Given the description of an element on the screen output the (x, y) to click on. 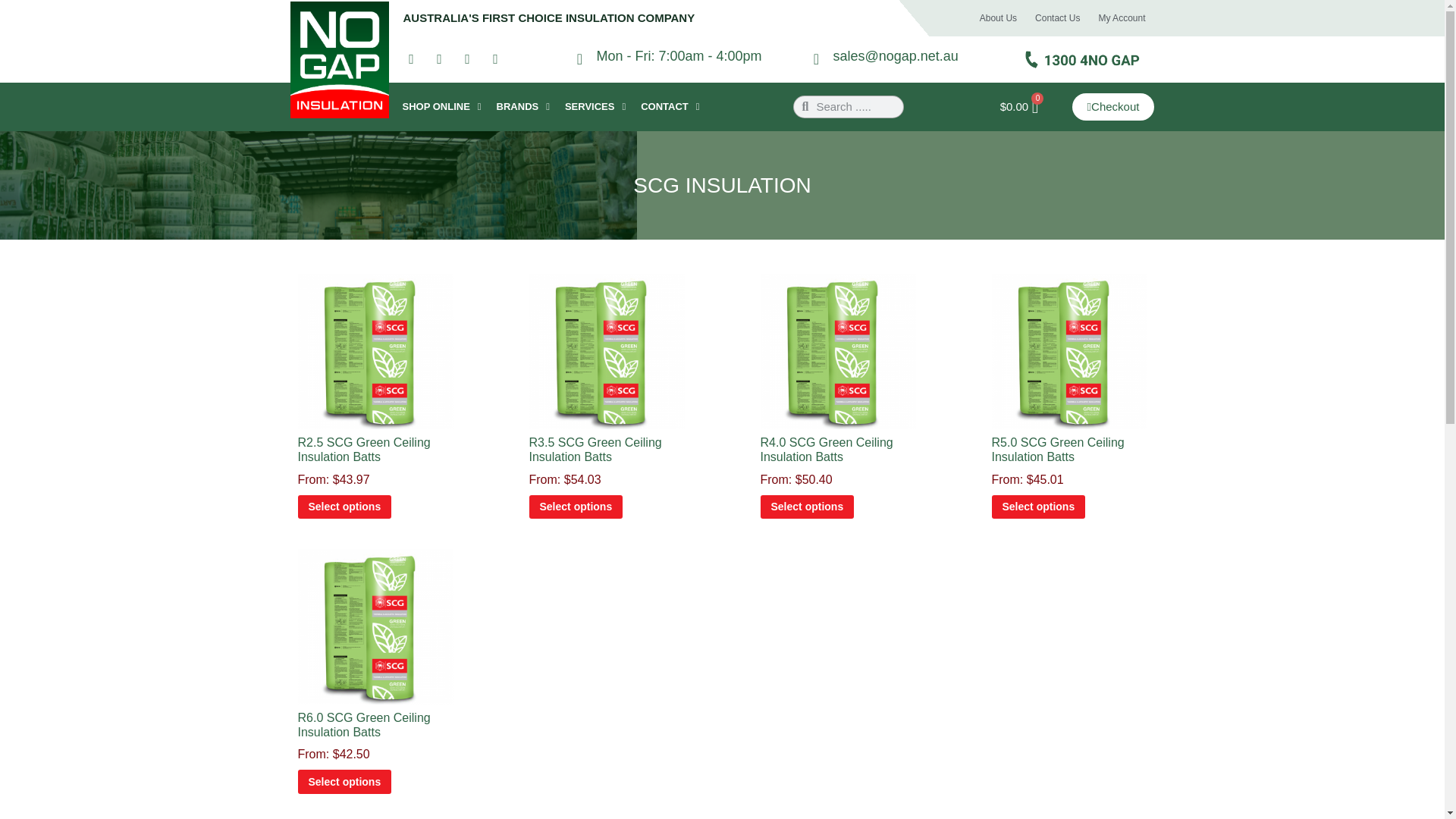
SHOP ONLINE (440, 106)
BRANDS (523, 106)
About Us (998, 17)
Contact Us (1057, 17)
My Account (1121, 17)
